Given the description of an element on the screen output the (x, y) to click on. 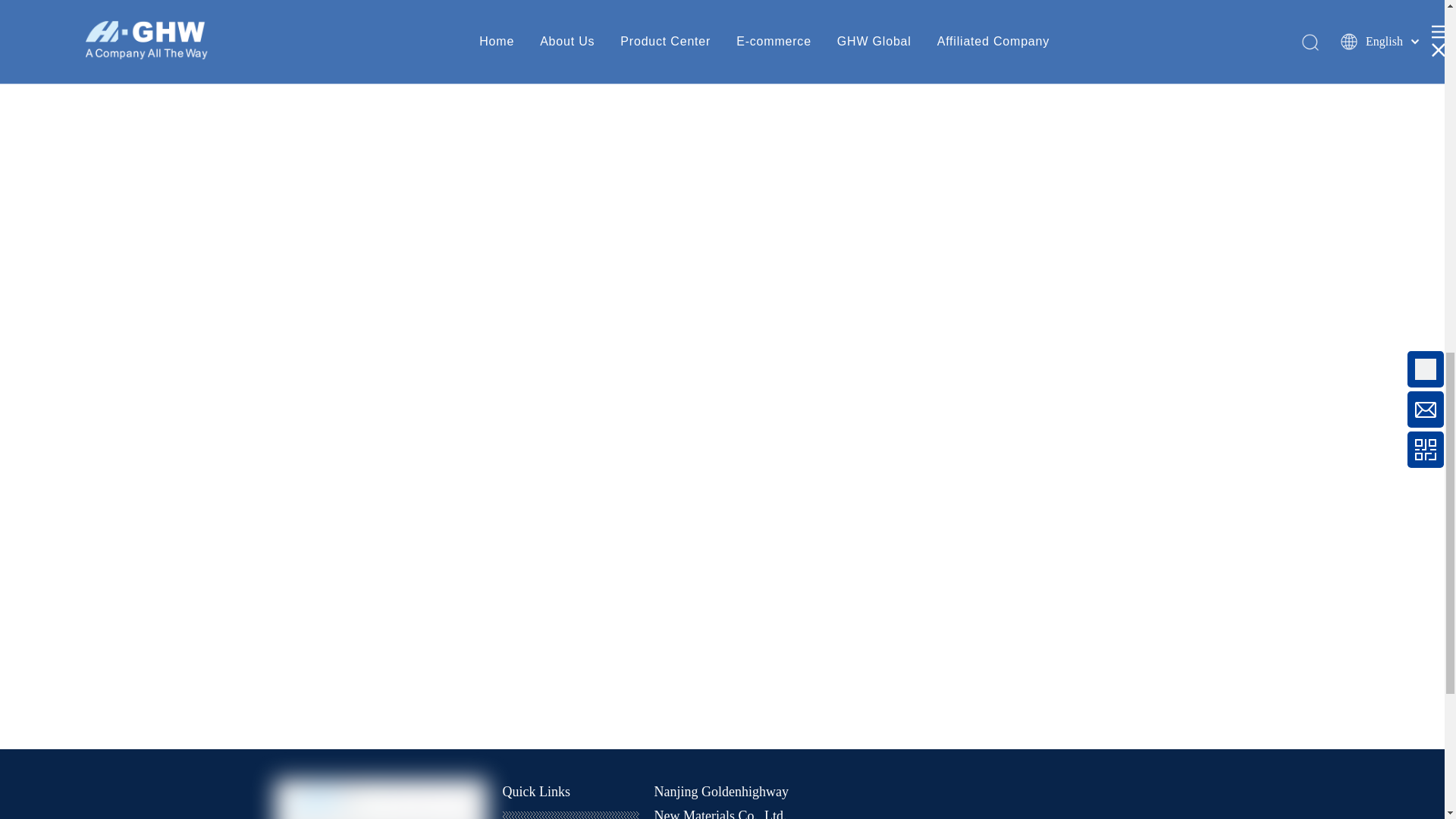
News (521, 818)
News (521, 818)
